Given the description of an element on the screen output the (x, y) to click on. 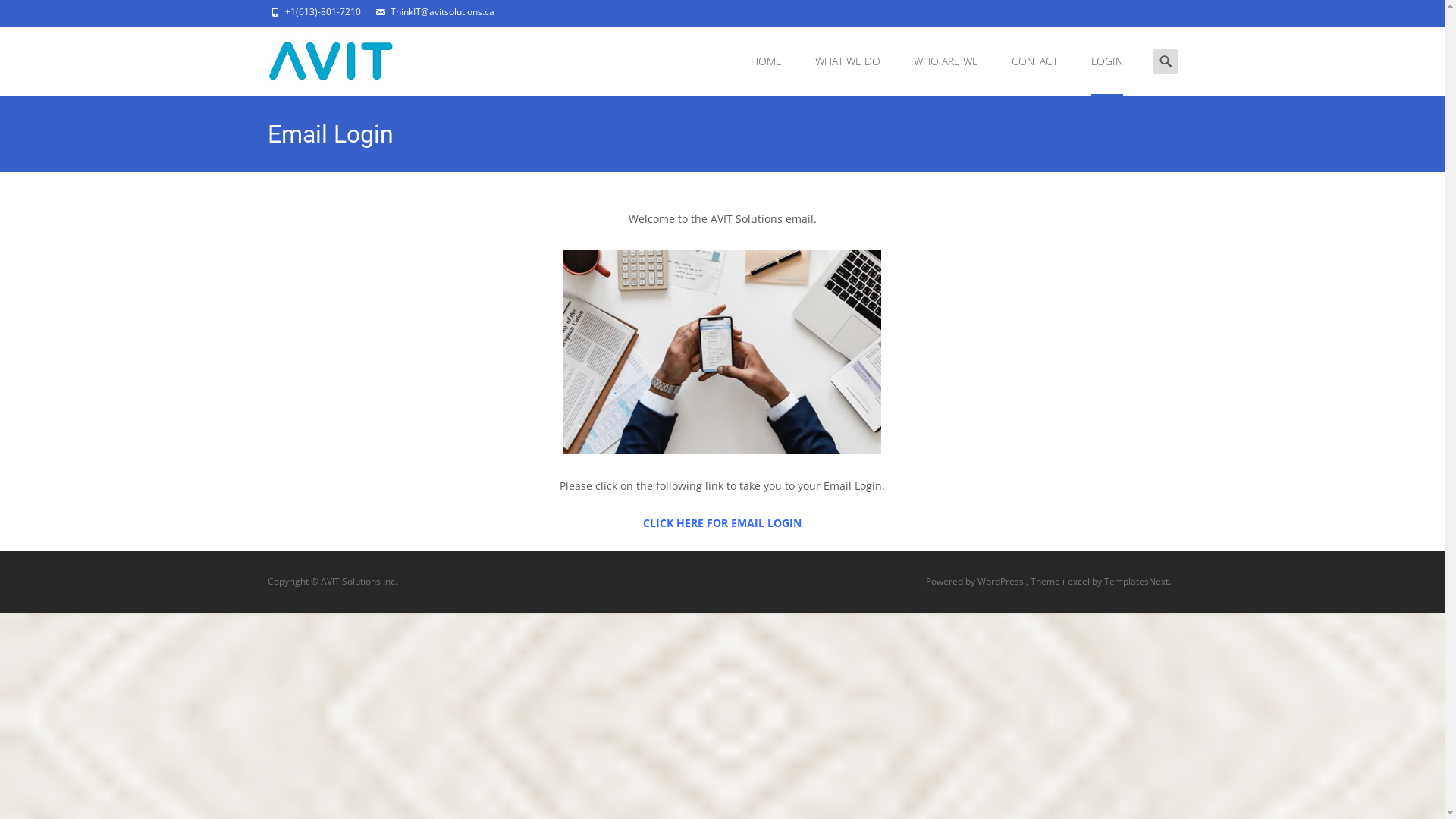
CONTACT Element type: text (1034, 61)
HOME Element type: text (765, 61)
Skip to content Element type: text (773, 36)
WHAT WE DO Element type: text (846, 61)
WHO ARE WE Element type: text (945, 61)
Powered by WordPress Element type: text (975, 580)
CLICK HERE FOR EMAIL LOGIN Element type: text (722, 522)
Search for: Element type: hover (1164, 61)
+1(613)-801-7210 Element type: text (322, 11)
AVIT Solutions Element type: hover (318, 57)
ThinkIT@avitsolutions.ca Element type: text (441, 11)
LOGIN Element type: text (1106, 61)
Search Element type: text (18, 15)
i-excel Element type: text (1076, 580)
